Given the description of an element on the screen output the (x, y) to click on. 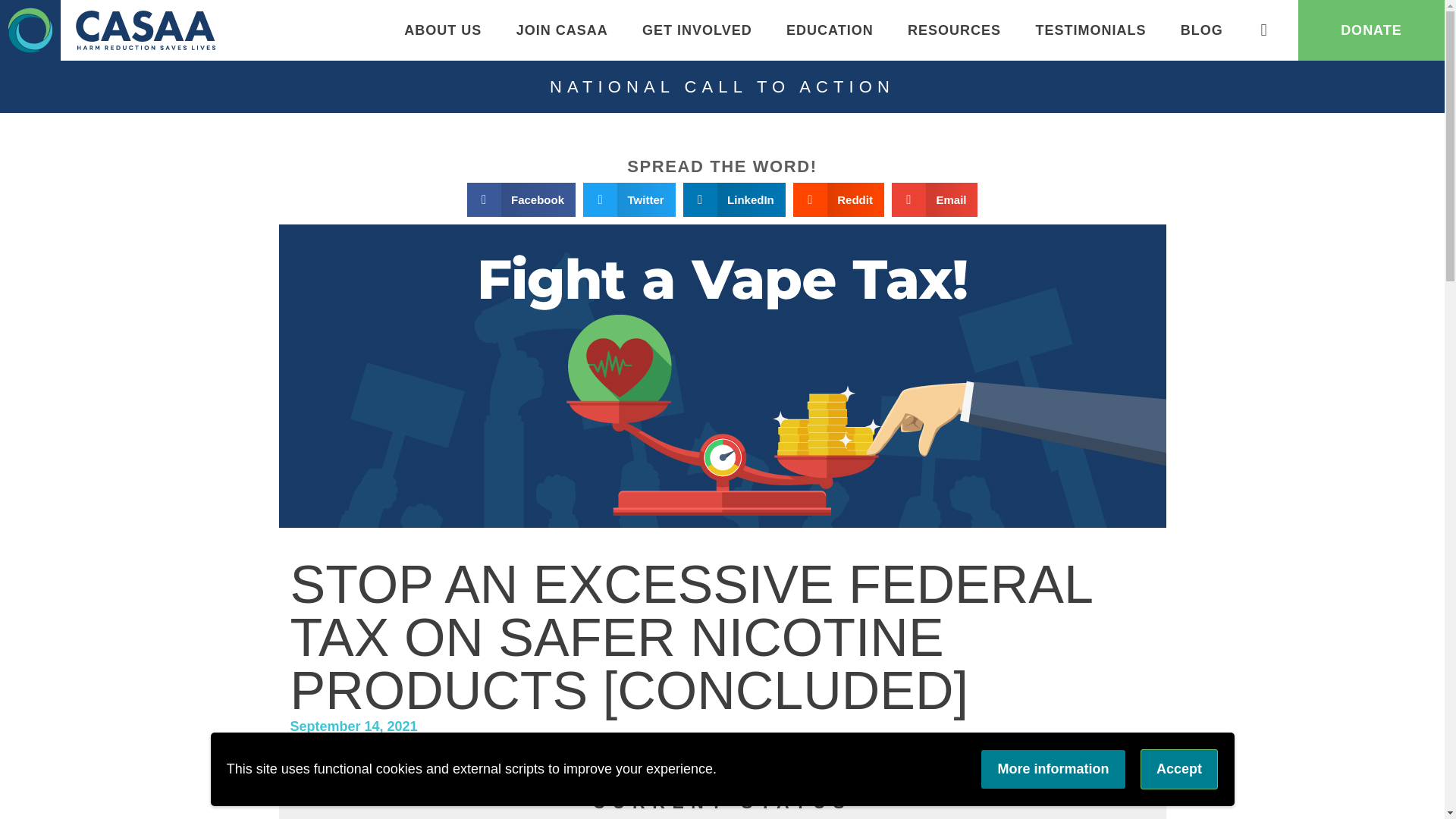
Accept (1179, 768)
EDUCATION (828, 30)
BLOG (1201, 30)
More information (1053, 769)
ABOUT US (443, 30)
JOIN CASAA (561, 30)
RESOURCES (953, 30)
TESTIMONIALS (1090, 30)
GET INVOLVED (696, 30)
